Given the description of an element on the screen output the (x, y) to click on. 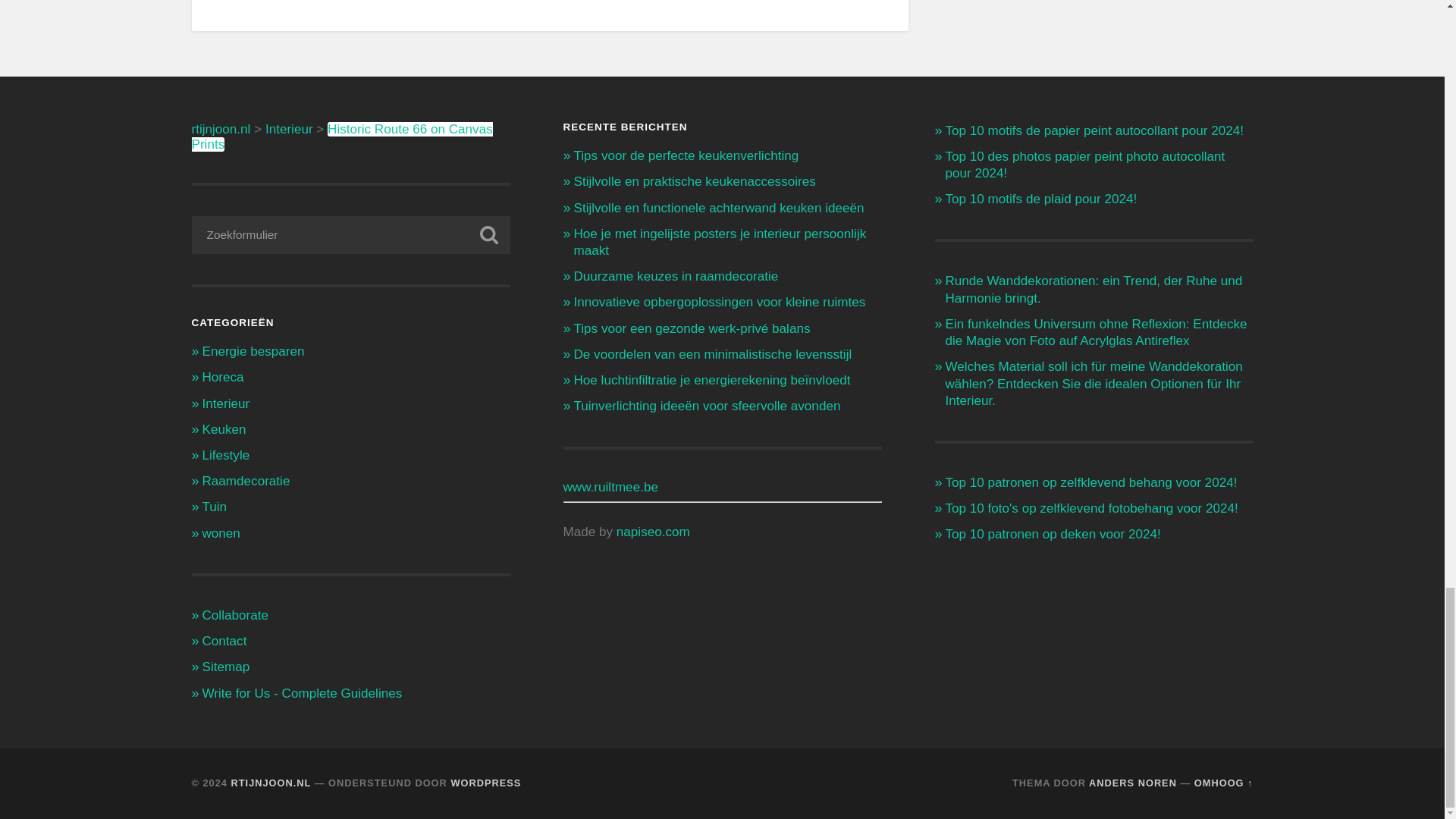
Zoeken (488, 234)
Zoeken (488, 234)
Go to the Interieur Categorie archives. (288, 129)
Ga naar Historic Route 66 on Canvas Prints. (341, 136)
www.ruiltmee.be (610, 486)
Ga naar rtijnjoon.nl. (220, 129)
